Given the description of an element on the screen output the (x, y) to click on. 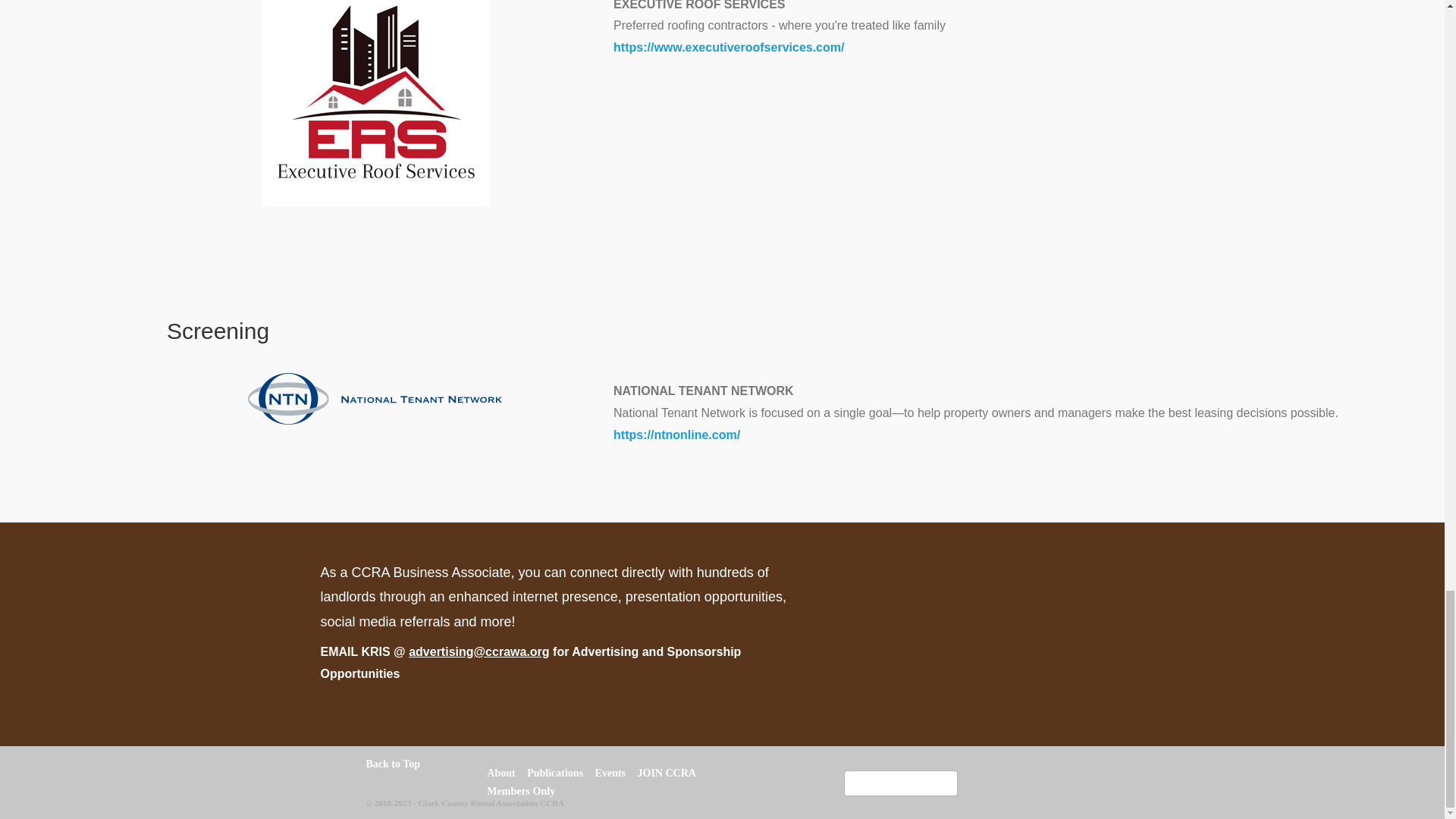
National Tenant Network (374, 399)
Search for: (901, 783)
Executive Roof Services (375, 103)
